Given the description of an element on the screen output the (x, y) to click on. 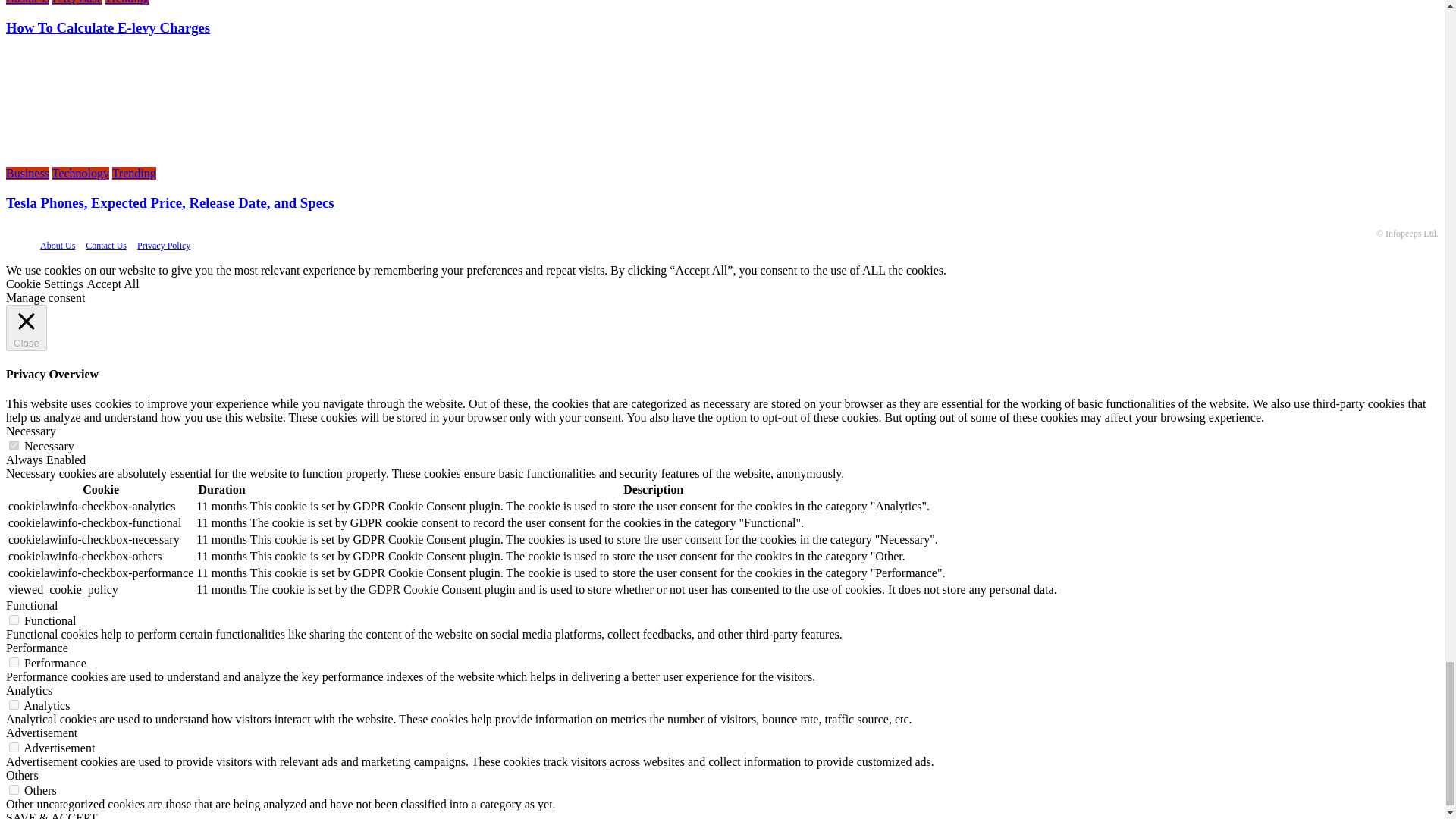
on (13, 747)
on (13, 789)
on (13, 662)
on (13, 705)
on (13, 619)
on (13, 445)
